Given the description of an element on the screen output the (x, y) to click on. 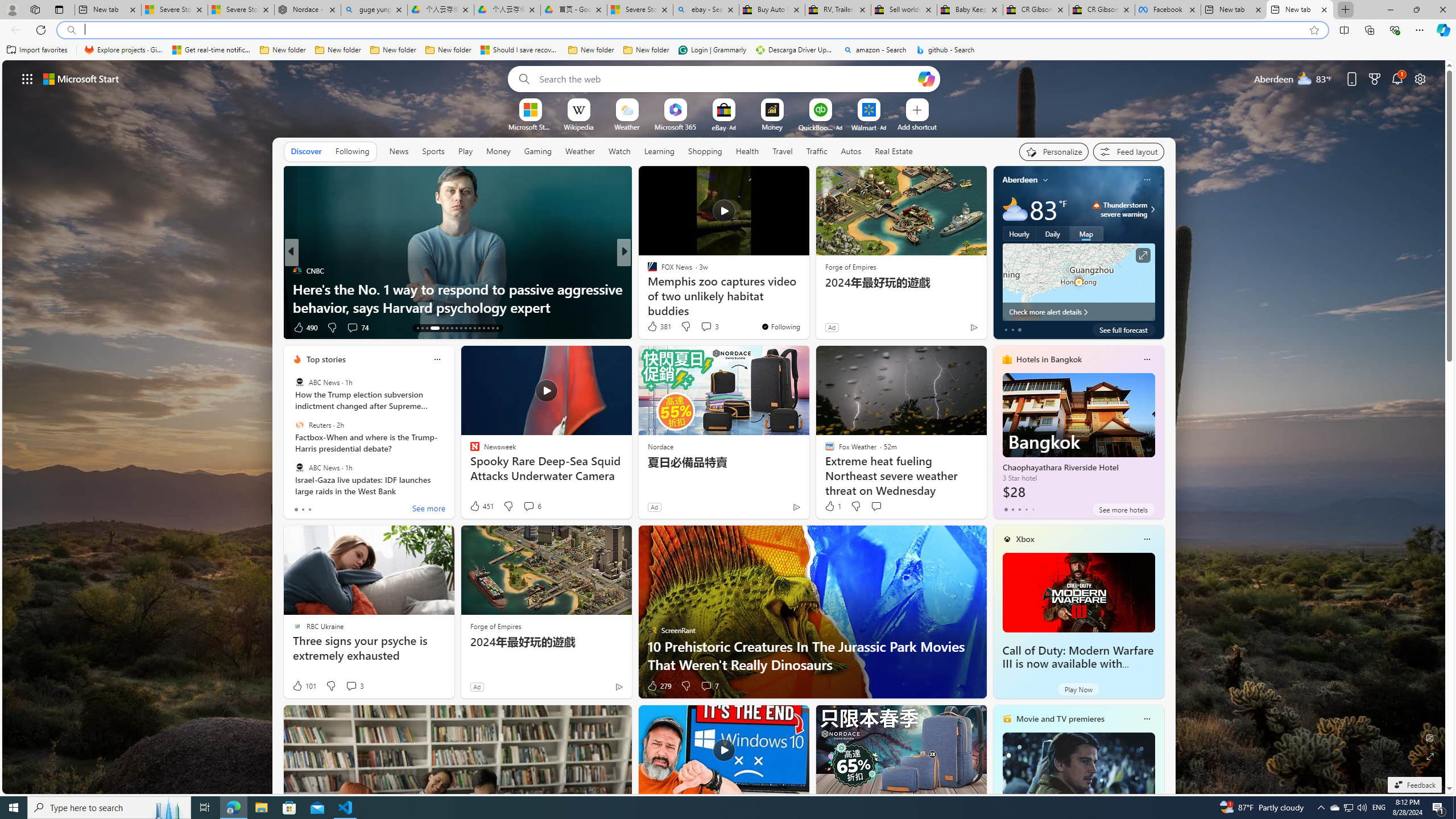
AutomationID: tab-29 (497, 328)
How to Start Strength Training If You've Never Done It (807, 298)
Play Now (1078, 689)
My location (1045, 179)
View comments 7 Comment (709, 685)
Mostly cloudy (1014, 208)
View comments 100 Comment (698, 327)
CNBC (296, 270)
